Given the description of an element on the screen output the (x, y) to click on. 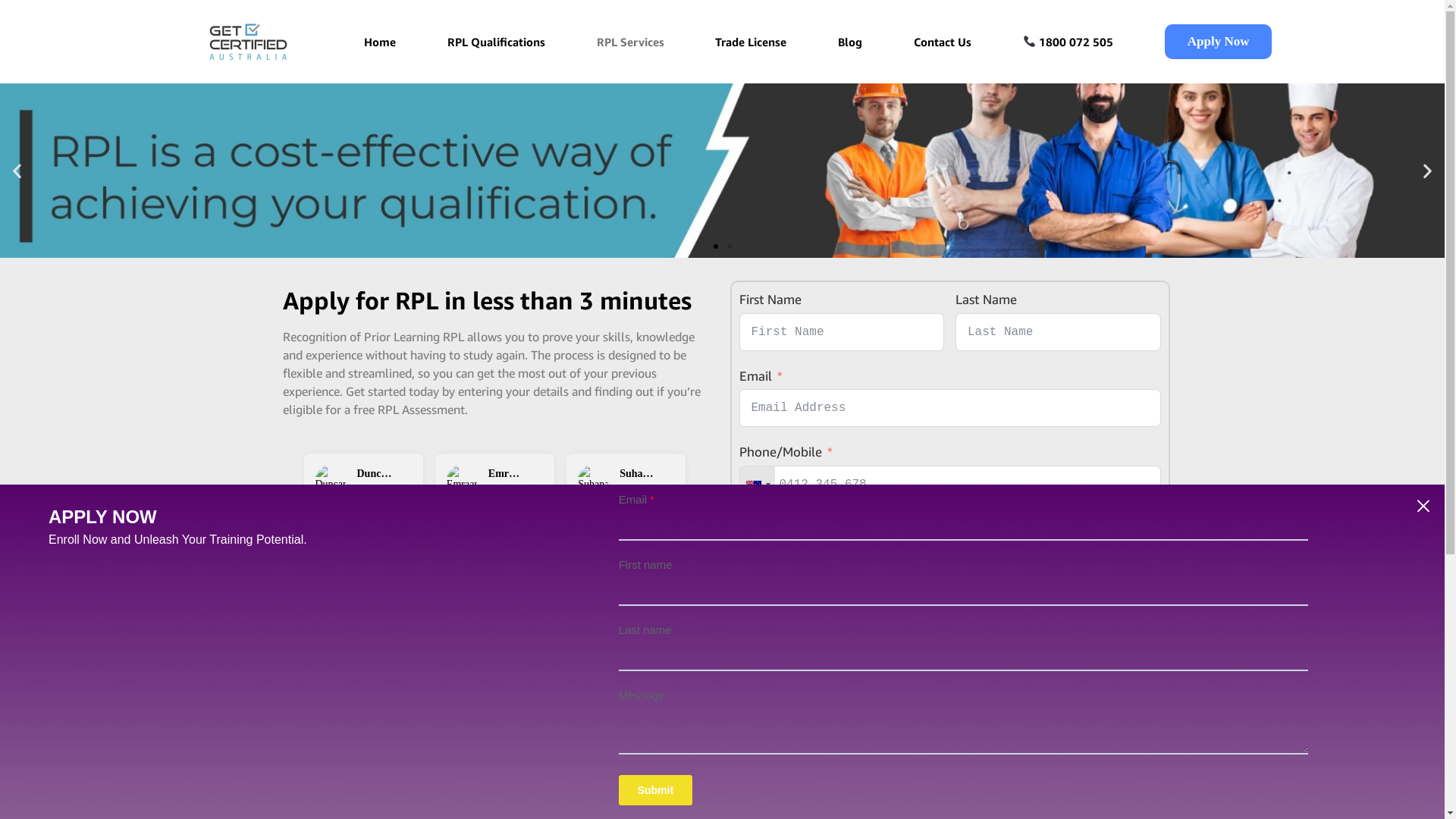
BEAUTY Element type: text (783, 802)
Australia: +61 Element type: hover (757, 484)
Trade License Element type: text (750, 41)
RPL Qualifications Element type: text (496, 41)
COMMUNITY SERVICES Element type: text (384, 802)
Submit Form Element type: text (785, 615)
HEALTH Element type: text (1081, 802)
Blog Element type: text (849, 41)
Home Element type: text (379, 41)
1800 072 505 Element type: text (1067, 41)
Apply Now Element type: text (1218, 41)
TRAINING AND ASSESSMENT Element type: text (650, 802)
BUSINESS Element type: text (518, 802)
INFORMATION TECHNOLOGY Element type: text (930, 802)
RPL Services Element type: text (630, 41)
Contact Us Element type: text (942, 41)
